Given the description of an element on the screen output the (x, y) to click on. 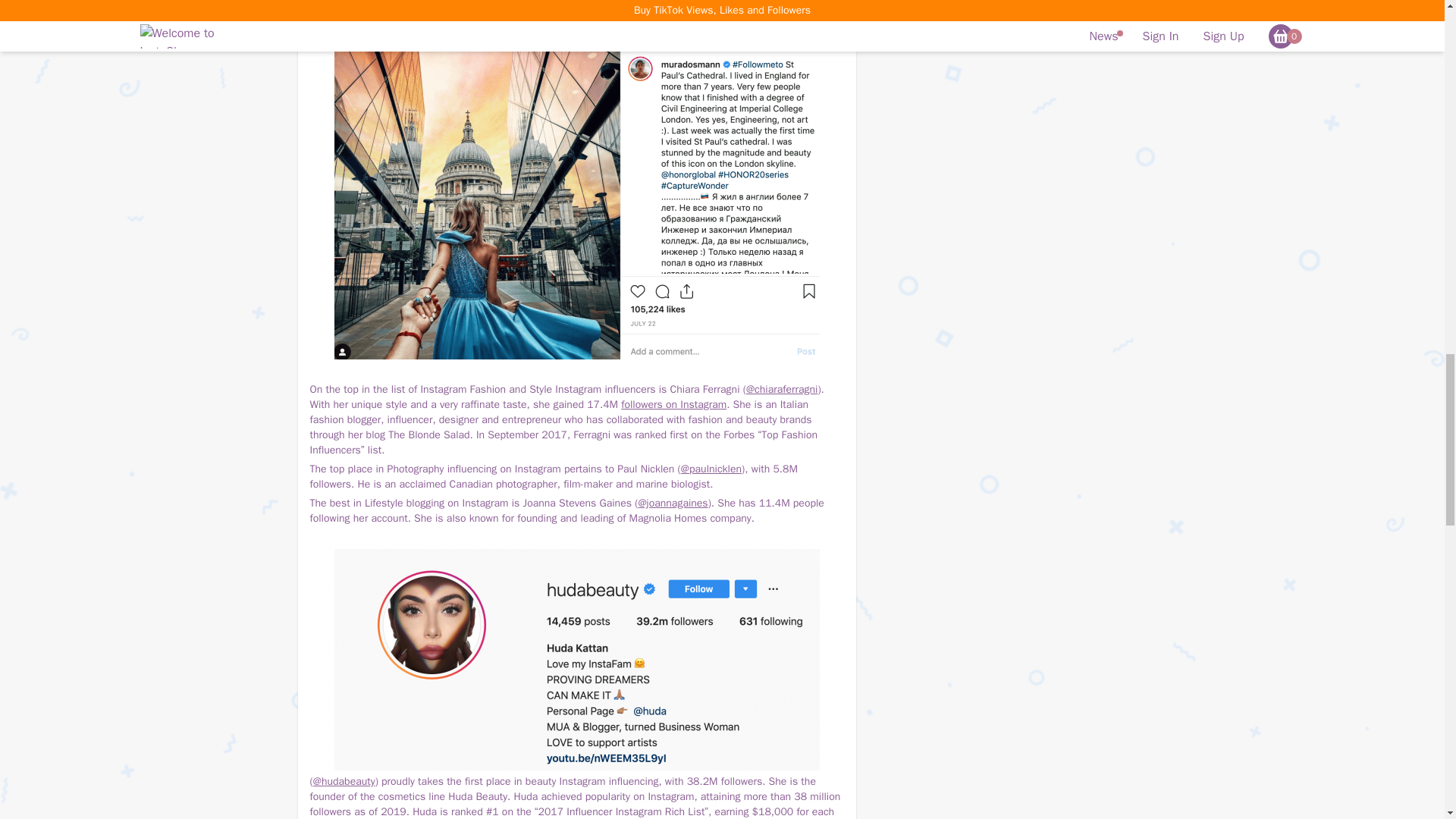
followers on Instagram (673, 404)
